Given the description of an element on the screen output the (x, y) to click on. 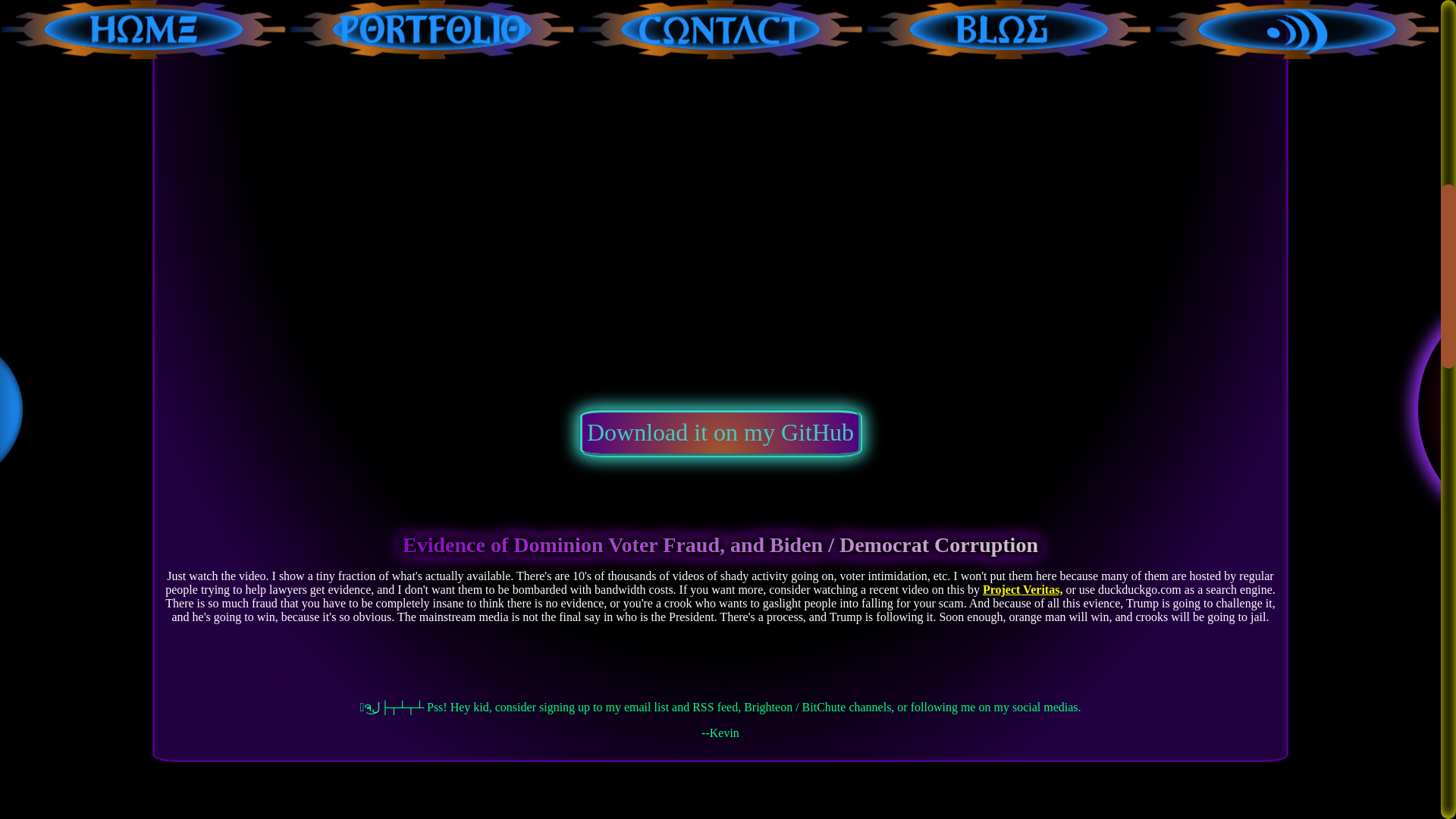
Download it on my GitHub (719, 436)
Download it on my GitHub (719, 431)
Project Veritas, (1022, 588)
